Given the description of an element on the screen output the (x, y) to click on. 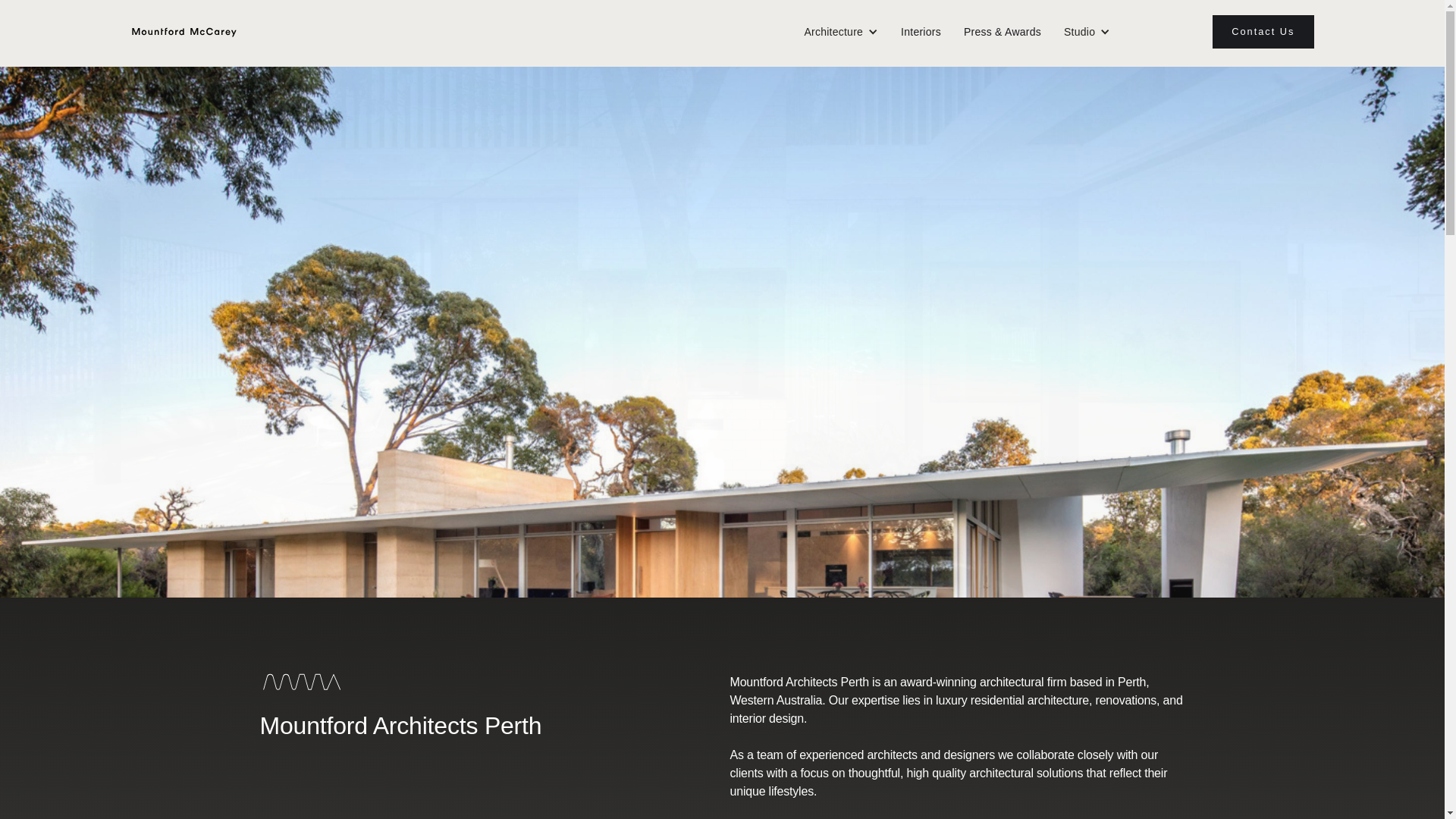
Interiors Element type: text (920, 31)
Press & Awards Element type: text (1002, 31)
Contact Us Element type: text (1262, 31)
